Given the description of an element on the screen output the (x, y) to click on. 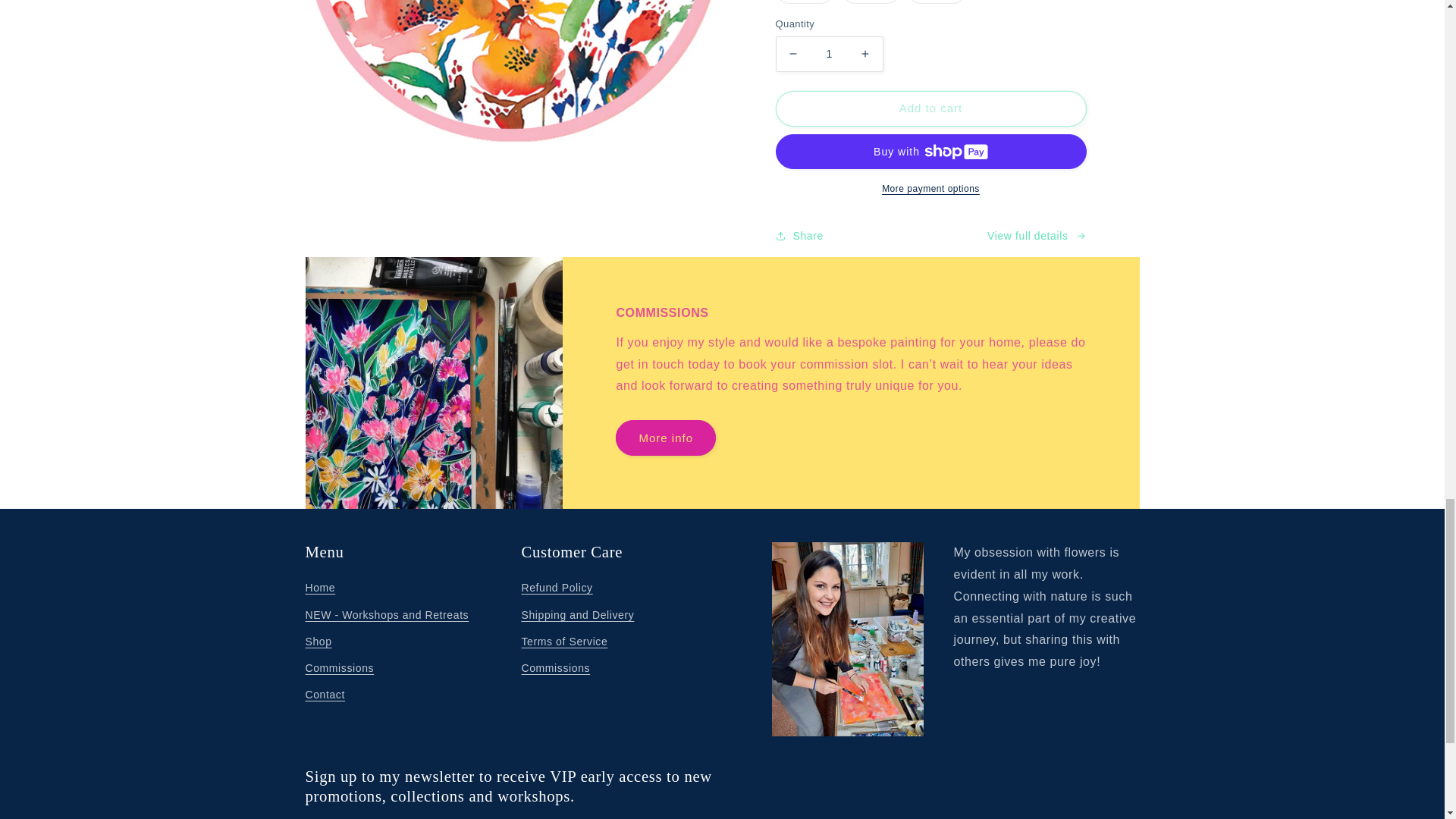
1 (828, 54)
